Given the description of an element on the screen output the (x, y) to click on. 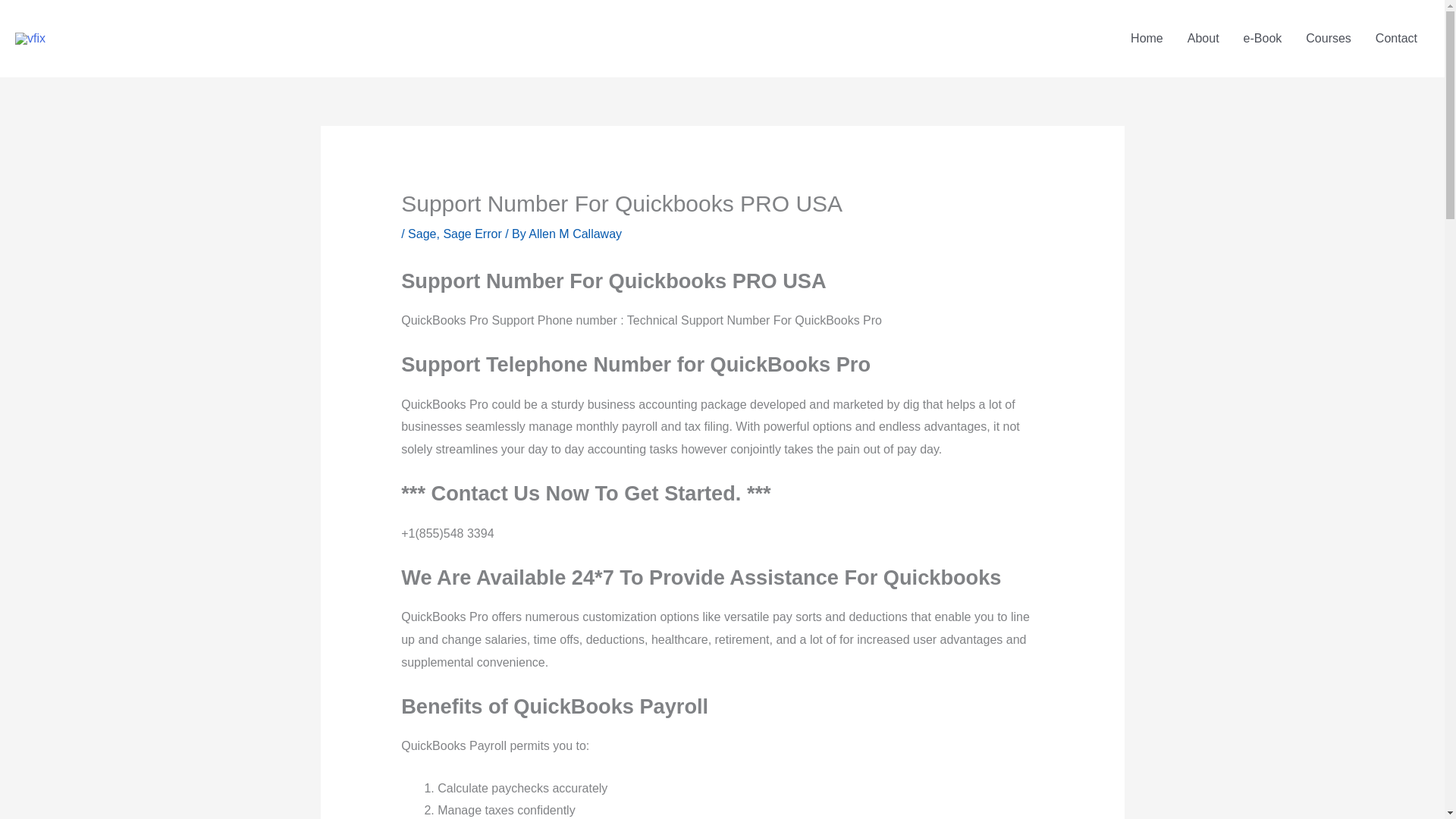
Allen M Callaway (574, 233)
Sage (421, 233)
Home (1146, 38)
View all posts by Allen M Callaway (574, 233)
Sage Error (471, 233)
Contact (1395, 38)
About (1202, 38)
e-Book (1262, 38)
Courses (1328, 38)
